Given the description of an element on the screen output the (x, y) to click on. 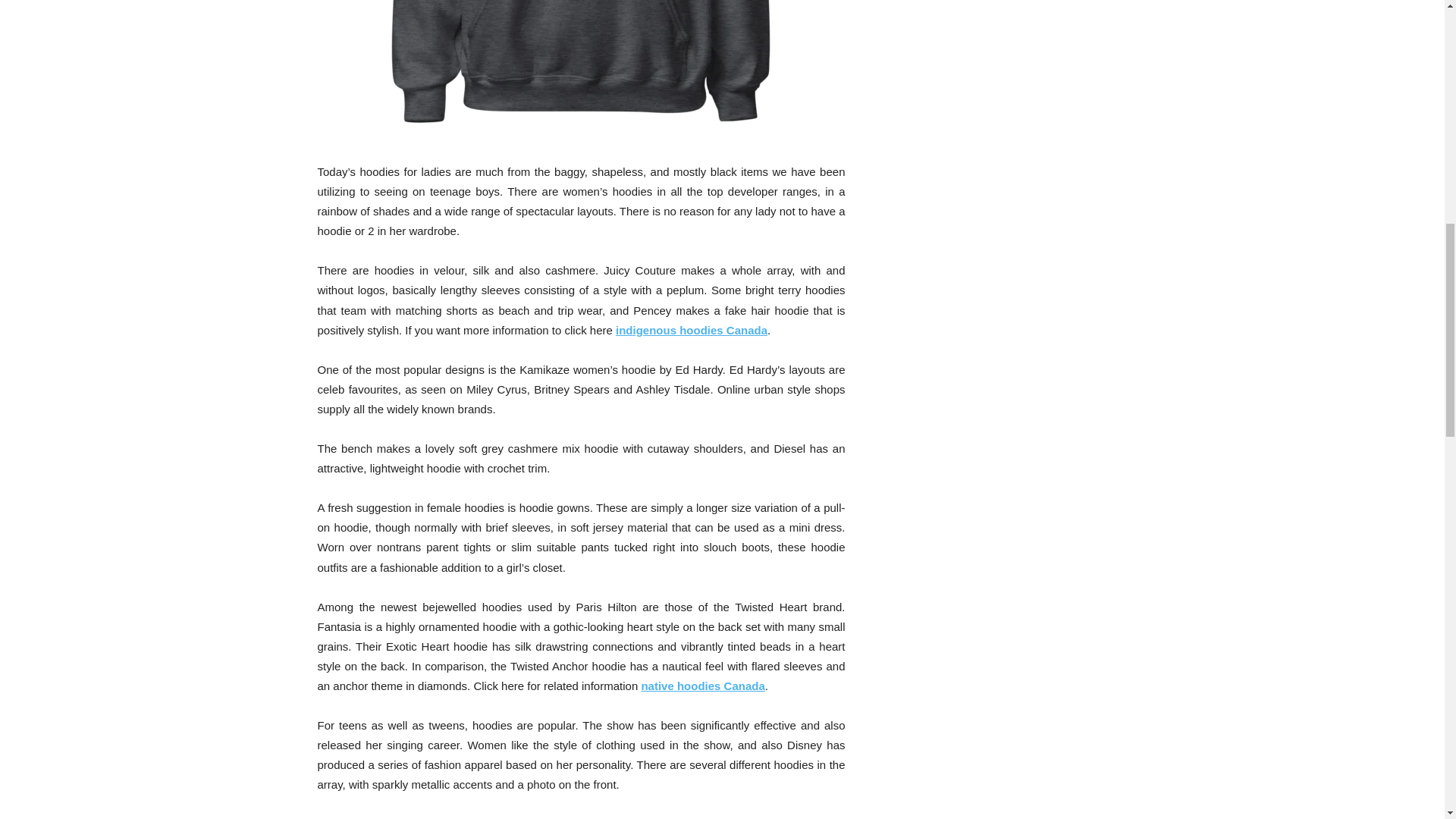
native hoodies Canada (702, 685)
indigenous hoodies Canada (691, 329)
indigenous hoodies Canada (580, 71)
